Given the description of an element on the screen output the (x, y) to click on. 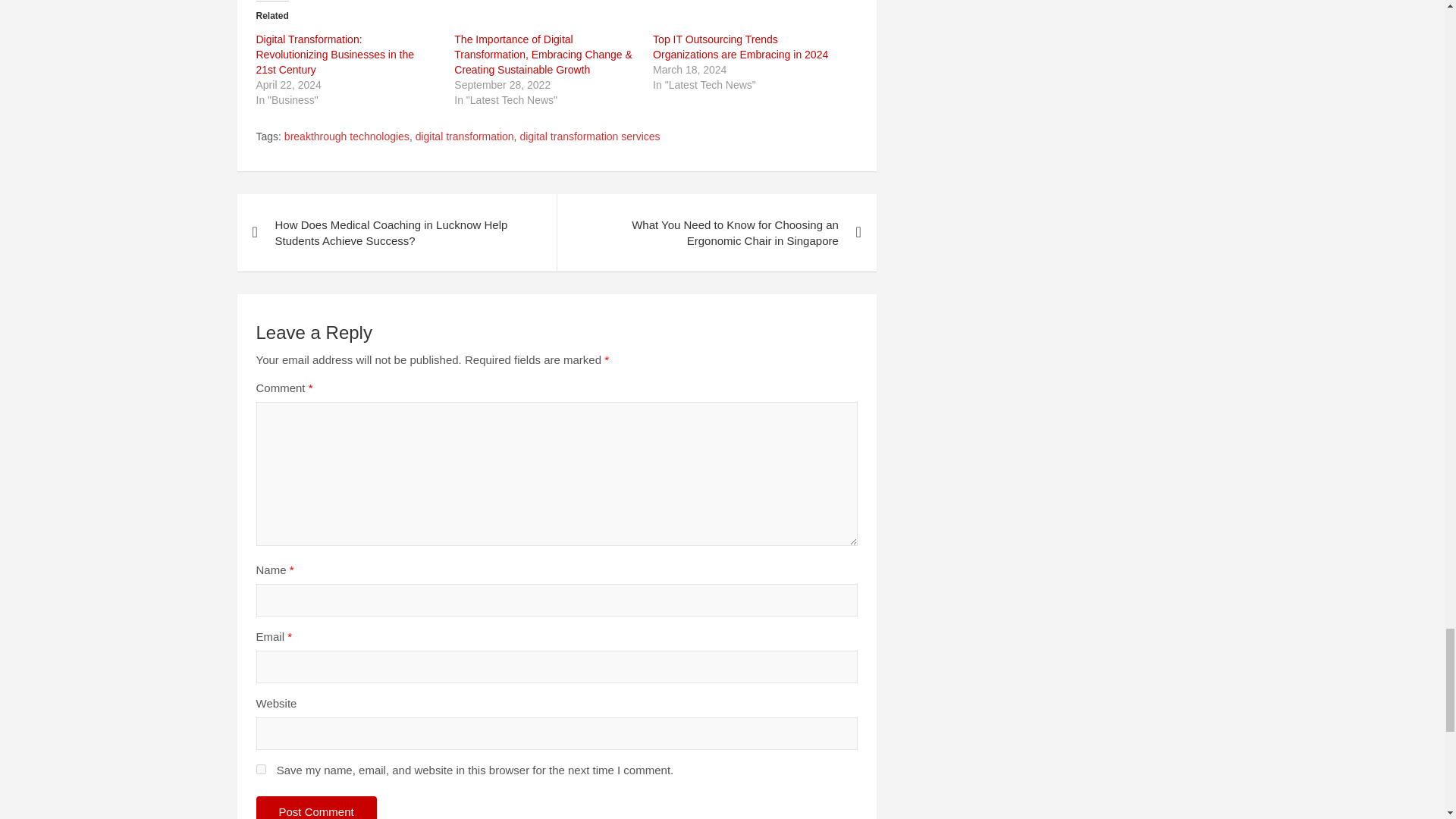
Post Comment (316, 807)
breakthrough technologies (346, 136)
digital transformation services (589, 136)
yes (261, 768)
digital transformation (463, 136)
